Given the description of an element on the screen output the (x, y) to click on. 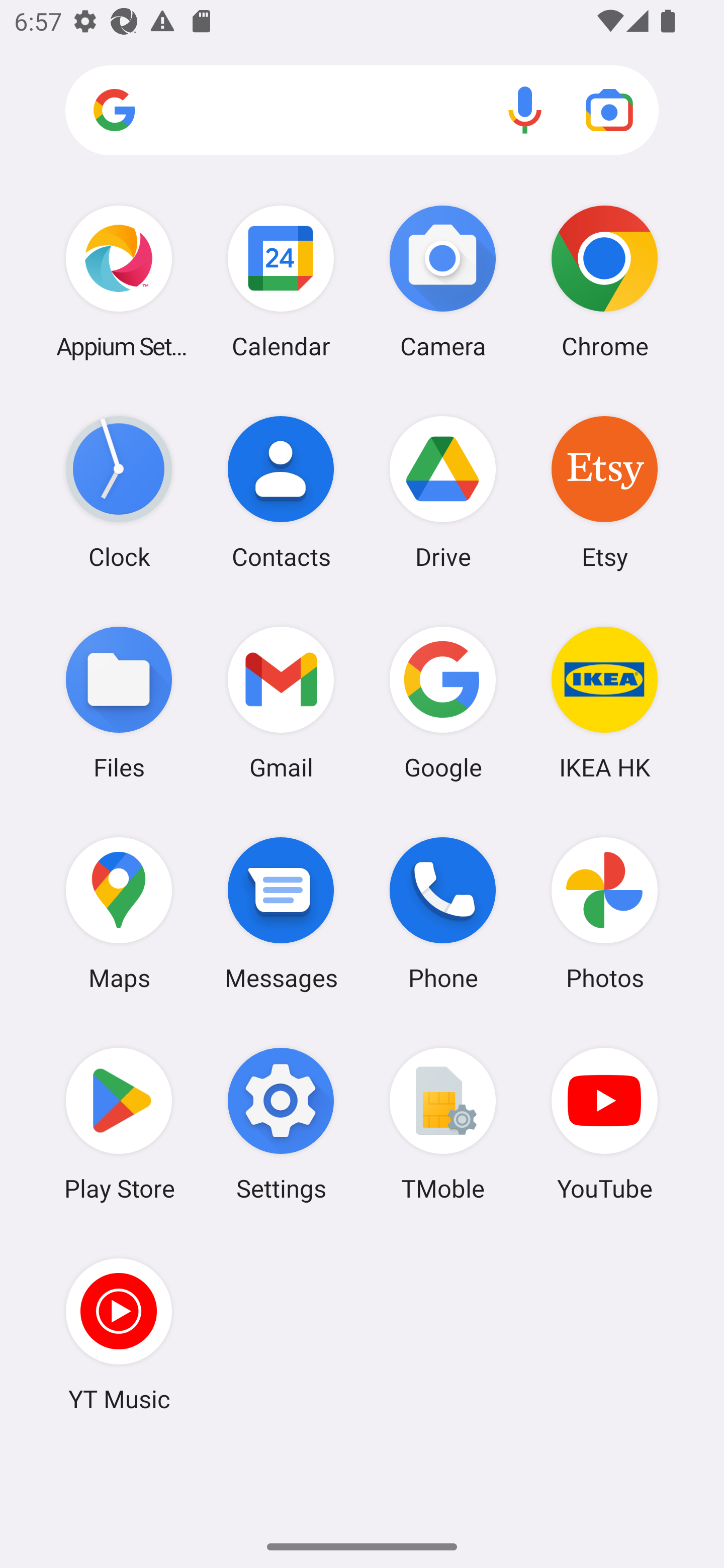
Search apps, web and more (361, 110)
Voice search (524, 109)
Google Lens (608, 109)
Appium Settings (118, 281)
Calendar (280, 281)
Camera (443, 281)
Chrome (604, 281)
Clock (118, 492)
Contacts (280, 492)
Drive (443, 492)
Etsy (604, 492)
Files (118, 702)
Gmail (280, 702)
Google (443, 702)
IKEA HK (604, 702)
Maps (118, 913)
Messages (280, 913)
Phone (443, 913)
Photos (604, 913)
Play Store (118, 1124)
Settings (280, 1124)
TMoble (443, 1124)
YouTube (604, 1124)
YT Music (118, 1334)
